Given the description of an element on the screen output the (x, y) to click on. 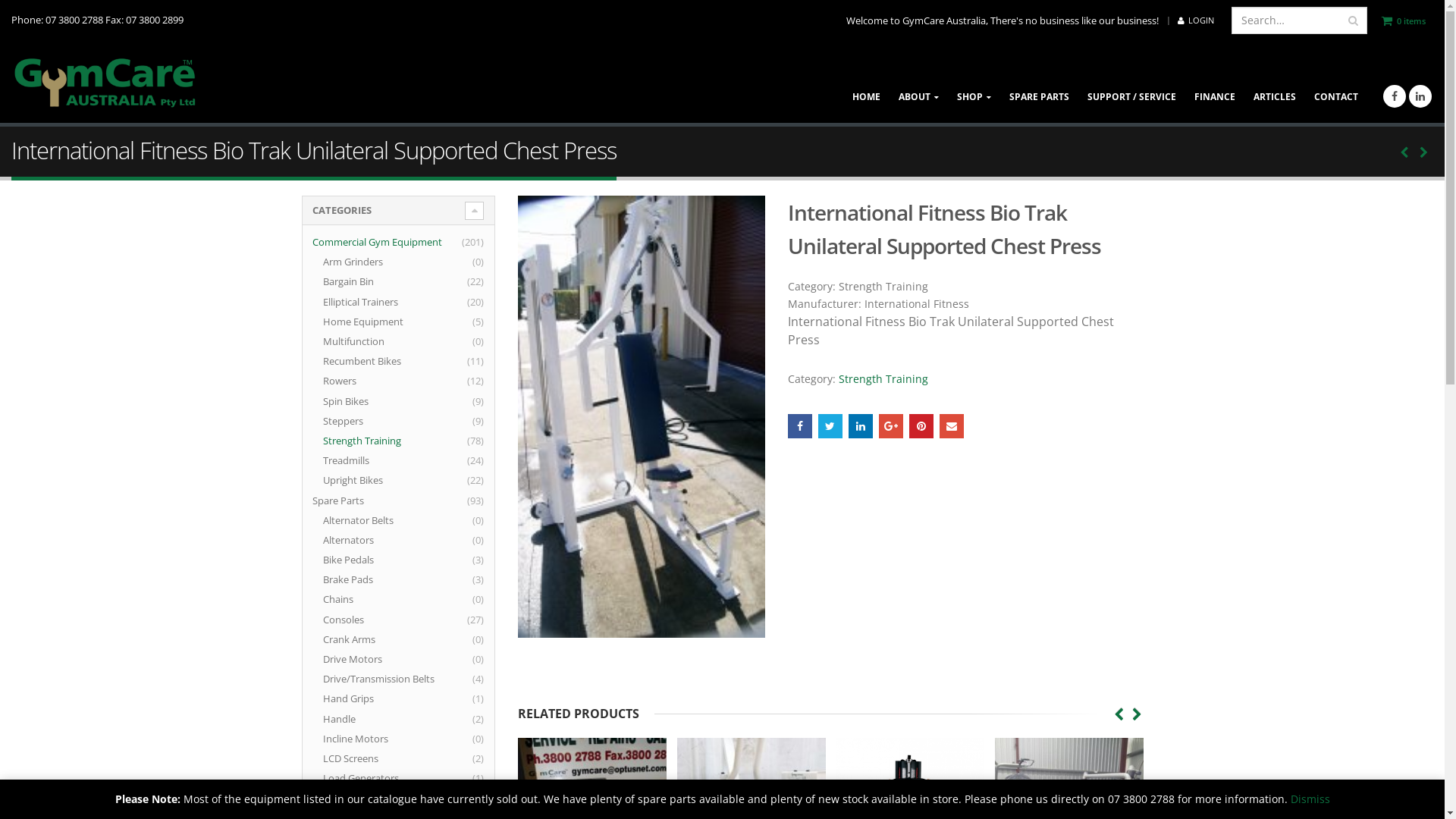
CONTACT Element type: text (1336, 82)
Alternators Element type: text (357, 539)
Multifunction Element type: text (363, 341)
Load Generators Element type: text (370, 777)
Arm Grinders Element type: text (362, 261)
Hand Grips Element type: text (357, 698)
SUPPORT / SERVICE Element type: text (1131, 82)
Commercial Gym Equipment Element type: text (386, 241)
Handle Element type: text (348, 718)
ABOUT Element type: text (918, 82)
HOME Element type: text (866, 82)
Upright Bikes Element type: text (362, 479)
Facebook Element type: hover (1394, 95)
SPARE PARTS Element type: text (1039, 82)
Chains Element type: text (347, 598)
Strength Training Element type: text (883, 378)
Facebook Element type: text (799, 426)
Dismiss Element type: text (1310, 798)
Consoles Element type: text (352, 619)
Twitter Element type: text (830, 426)
GymCare Australia - There's no business like our business Element type: hover (105, 82)
Email Element type: text (951, 426)
SHOP Element type: text (973, 82)
LinkedIn Element type: hover (1419, 95)
Incline Motors Element type: text (365, 738)
Recumbent Bikes Element type: text (371, 360)
Strength Training Element type: text (371, 440)
Search Element type: hover (1353, 20)
Drive Motors Element type: text (362, 658)
Pinterest Element type: text (921, 426)
ARTICLES Element type: text (1274, 82)
LinkedIn Element type: text (860, 426)
Alternator Belts Element type: text (367, 520)
Motor Control Boards Element type: text (382, 797)
Treadmills Element type: text (355, 460)
Spin Bikes Element type: text (355, 401)
LOGIN Element type: text (1195, 20)
Steppers Element type: text (352, 420)
LCD Screens Element type: text (360, 758)
Brake Pads Element type: text (357, 579)
Rowers Element type: text (349, 380)
Bargain Bin Element type: text (357, 281)
Drive/Transmission Belts Element type: text (388, 678)
Bike Pedals Element type: text (357, 559)
FINANCE Element type: text (1214, 82)
Crank Arms Element type: text (358, 639)
Google + Element type: text (890, 426)
Home Equipment Element type: text (372, 321)
Spare Parts Element type: text (347, 500)
Elliptical Trainers Element type: text (370, 301)
